Given the description of an element on the screen output the (x, y) to click on. 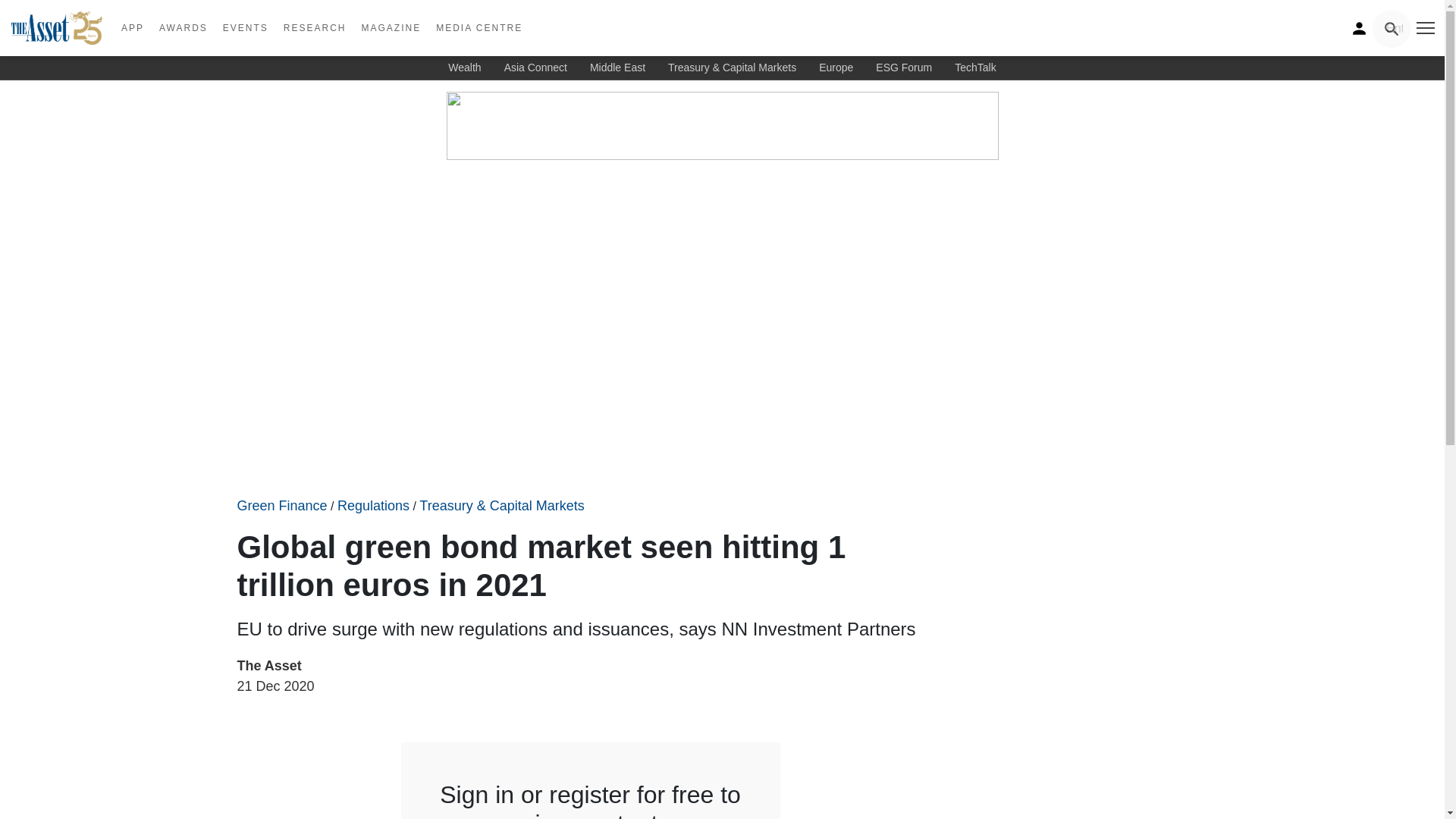
MAGAZINE (390, 27)
Green Finance (280, 505)
APP (132, 27)
Regulations (373, 505)
ESG Forum (903, 67)
MEDIA CENTRE (478, 27)
AWARDS (183, 27)
EVENTS (245, 27)
Asia Connect (535, 67)
Europe (835, 67)
